Given the description of an element on the screen output the (x, y) to click on. 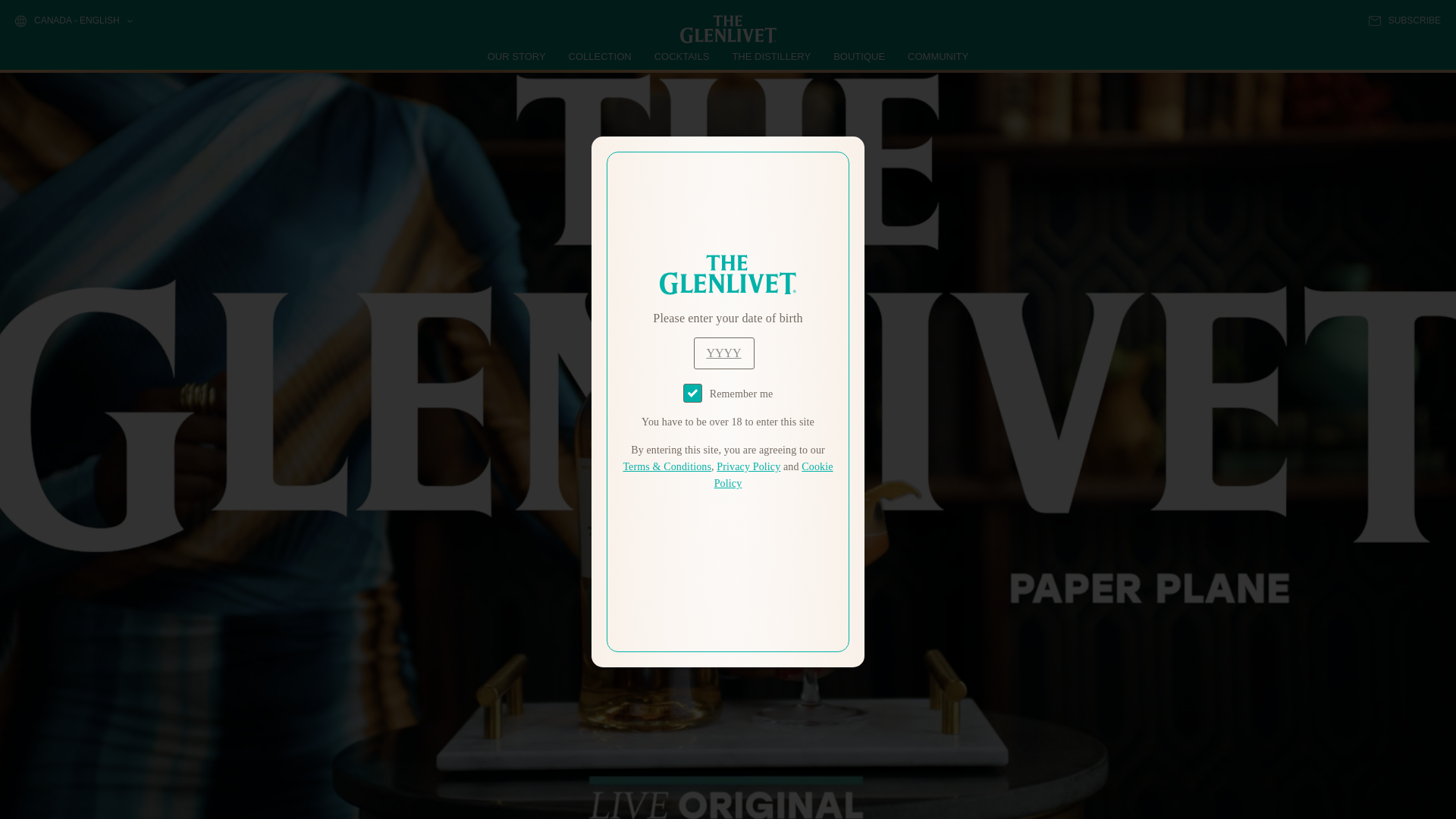
OUR STORY (516, 56)
year (723, 353)
Cookie Policy (773, 474)
COMMUNITY (937, 56)
COCKTAILS (681, 56)
COLLECTION (600, 56)
THE DISTILLERY (771, 56)
BOUTIQUE (858, 56)
CANADA - ENGLISH (73, 21)
SUBSCRIBE (1404, 20)
Privacy Policy (748, 466)
